Given the description of an element on the screen output the (x, y) to click on. 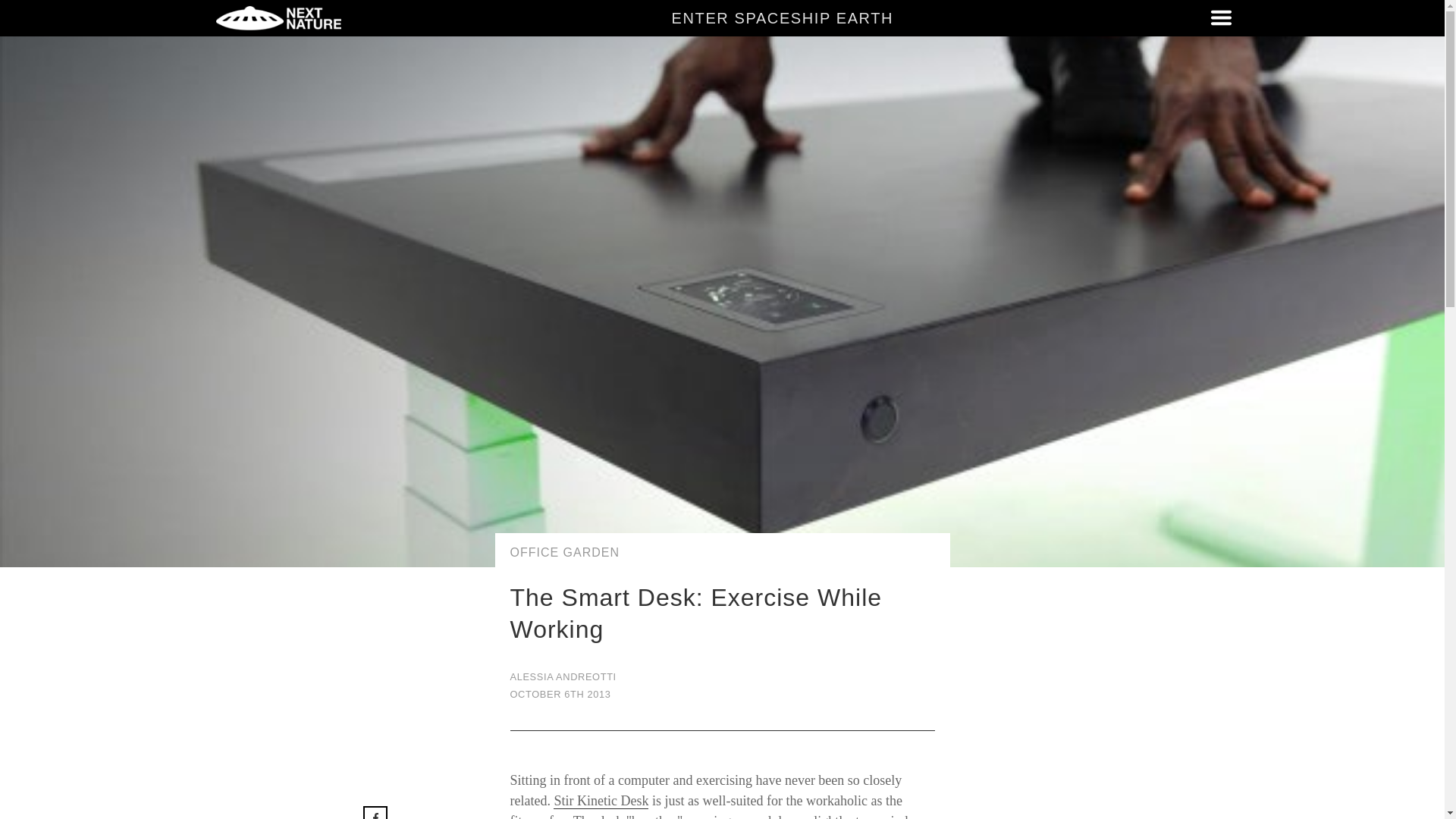
NNN (277, 18)
ENTER SPACESHIP EARTH (782, 17)
OFFICE GARDEN (721, 553)
Facebook (392, 813)
ALESSIA ANDREOTTI (721, 677)
October 6th 2013 (721, 694)
Stir Kinetic Desk (600, 801)
